Given the description of an element on the screen output the (x, y) to click on. 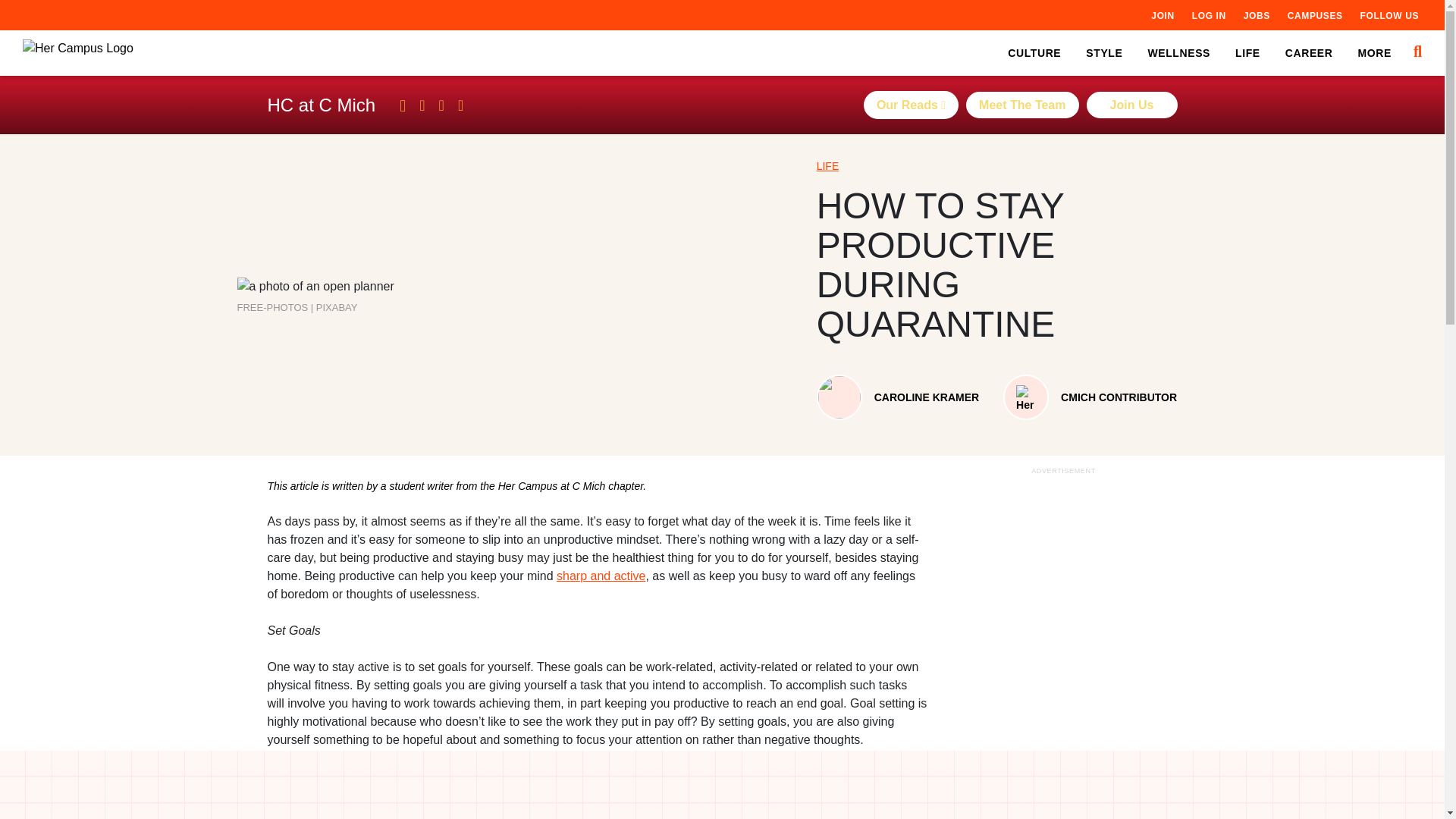
CAMPUSES (1314, 15)
JOBS (1256, 15)
LOG IN (1208, 15)
JOIN (1162, 15)
How to Stay Productive During Quarantine 1 (314, 286)
